Given the description of an element on the screen output the (x, y) to click on. 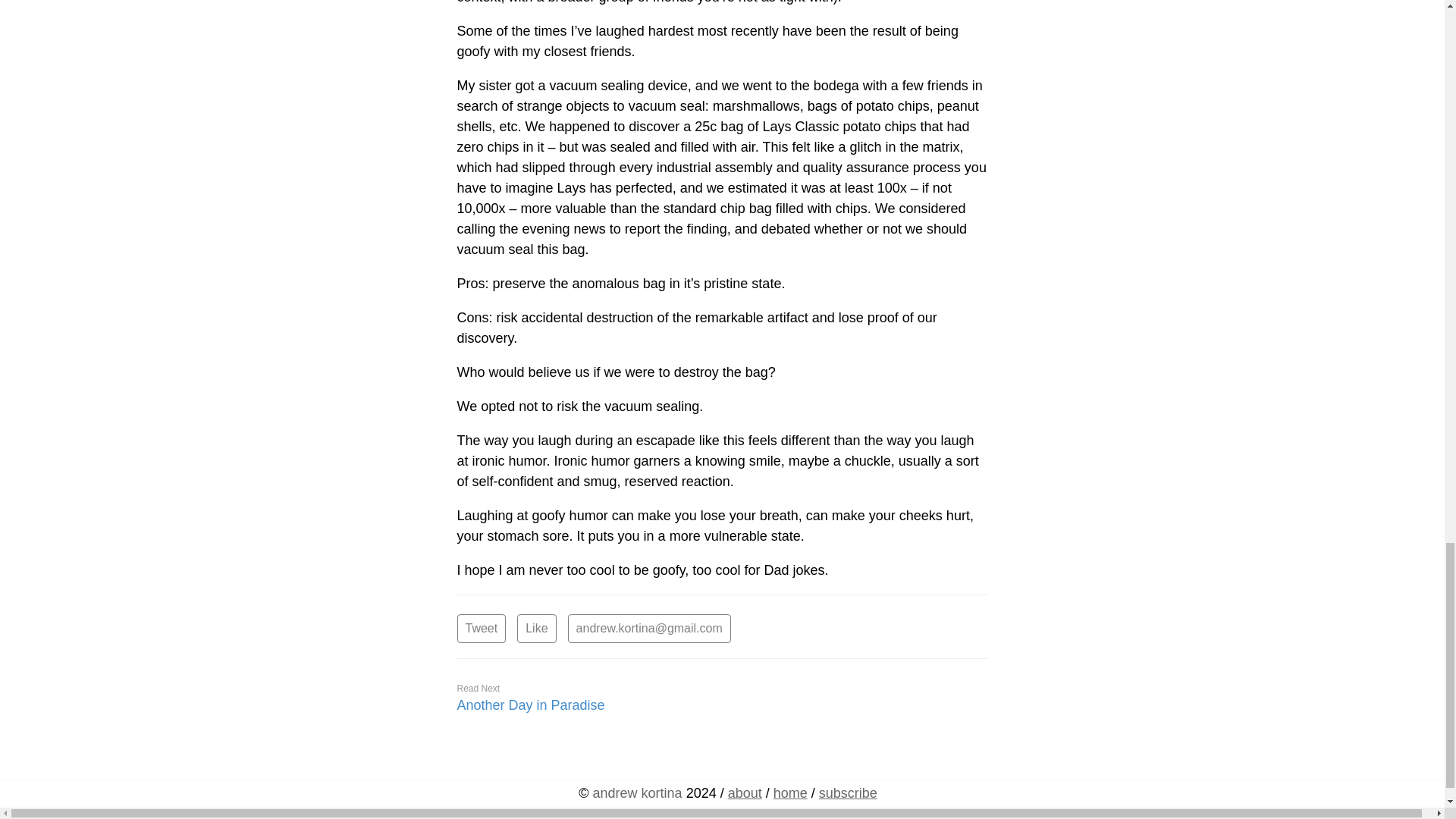
Another Day in Paradise (530, 704)
Like (536, 628)
Another Day in Paradise (530, 704)
Tweet (481, 628)
